Given the description of an element on the screen output the (x, y) to click on. 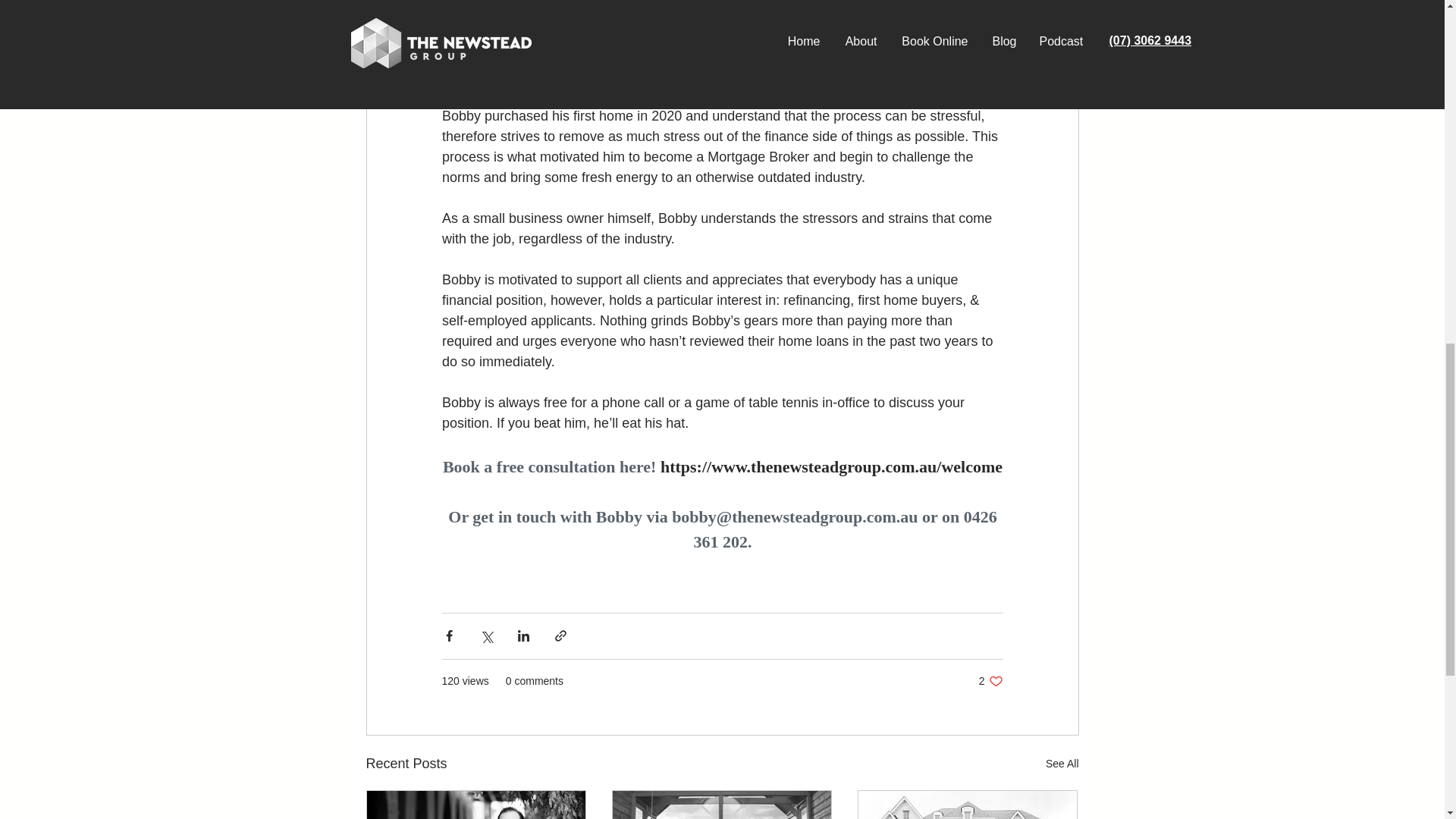
See All (1061, 763)
